Given the description of an element on the screen output the (x, y) to click on. 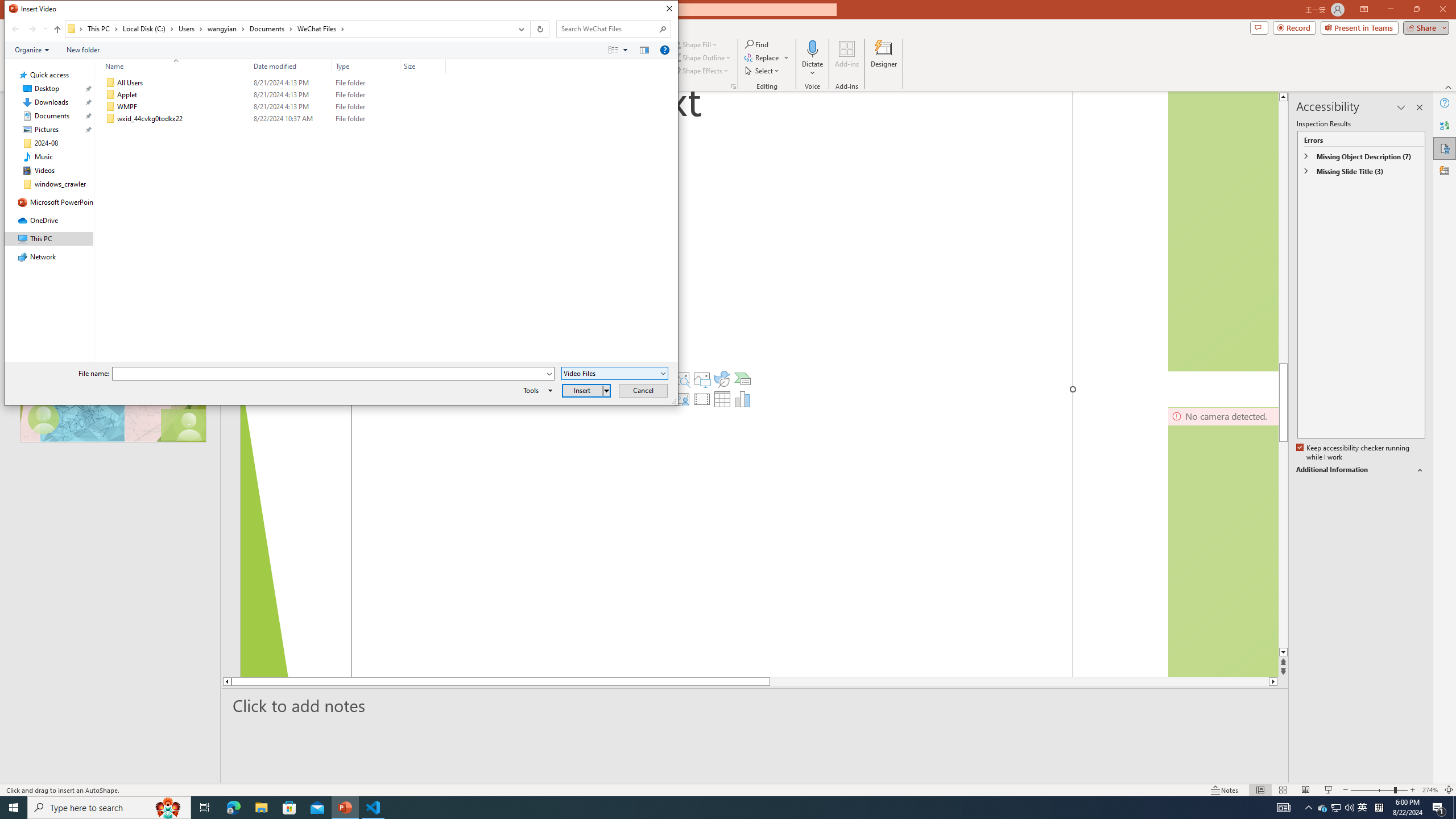
&Help (664, 49)
Views (620, 49)
Preview pane (644, 49)
Local Disk (C:) (148, 28)
Date modified (290, 119)
Class: UIImage (111, 119)
